Given the description of an element on the screen output the (x, y) to click on. 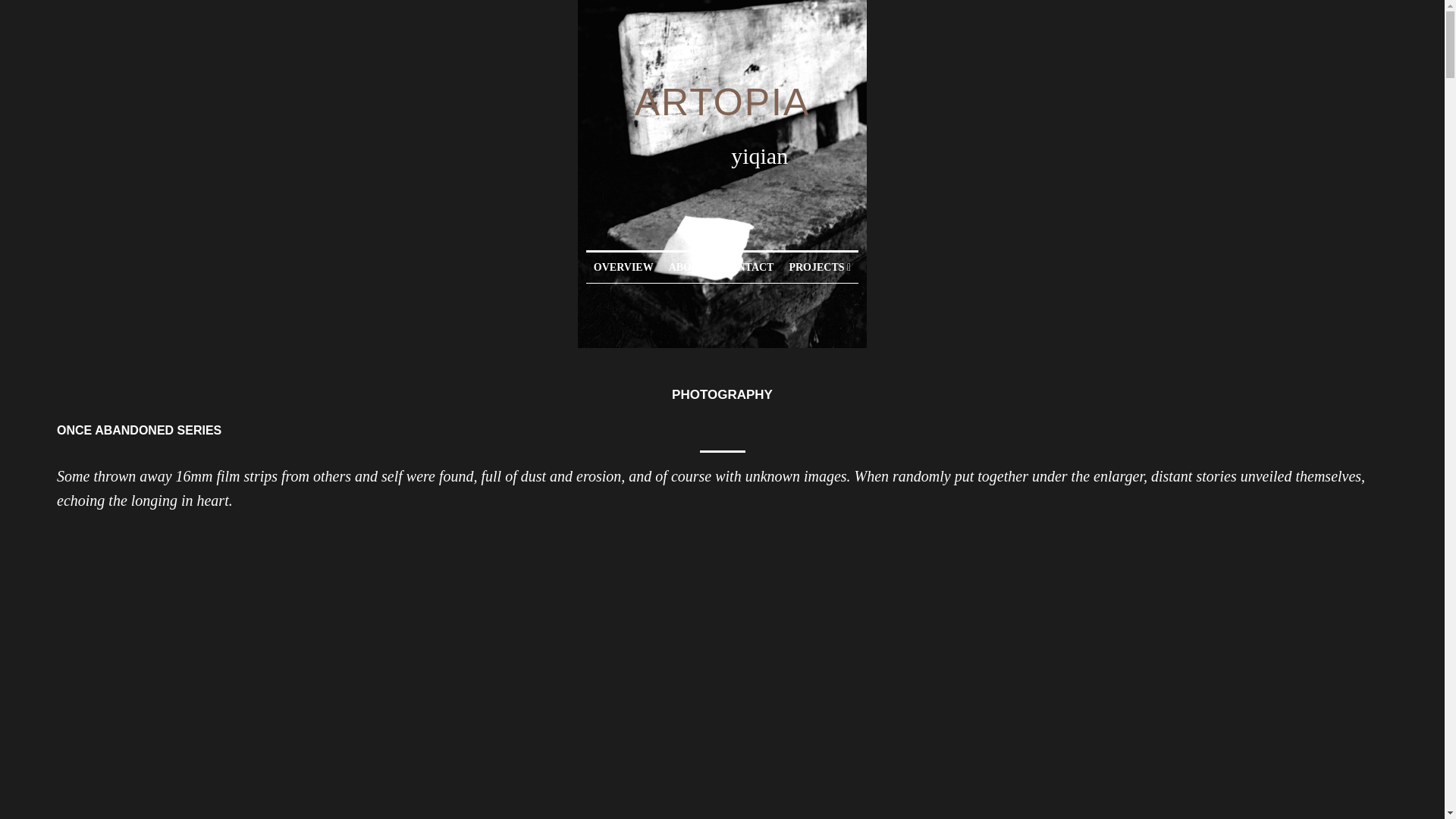
ABOUT (687, 267)
CONTACT (746, 267)
OVERVIEW (623, 267)
